Given the description of an element on the screen output the (x, y) to click on. 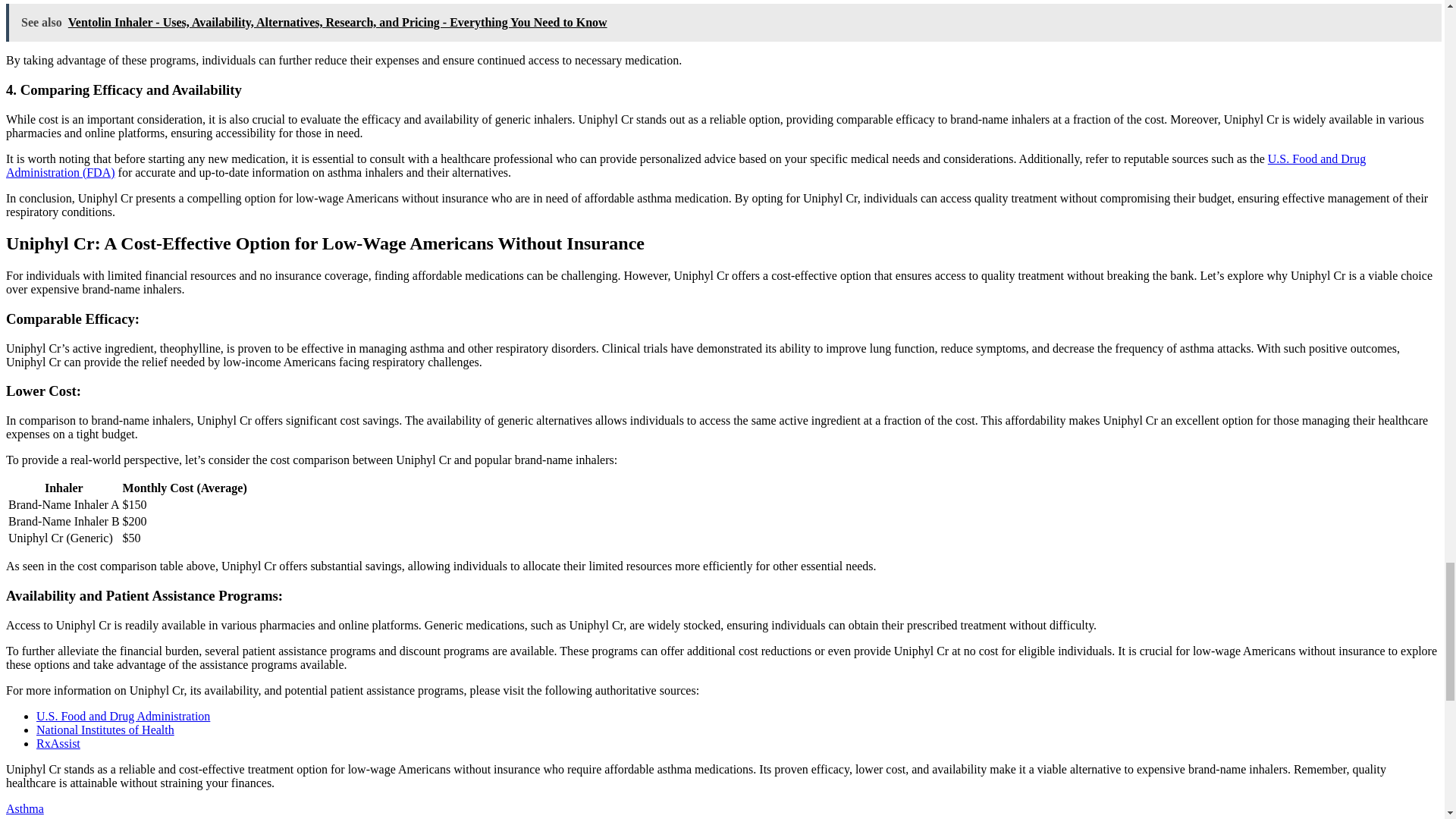
U.S. Food and Drug Administration (122, 716)
Asthma (24, 808)
RxAssist (58, 743)
National Institutes of Health (105, 729)
